Given the description of an element on the screen output the (x, y) to click on. 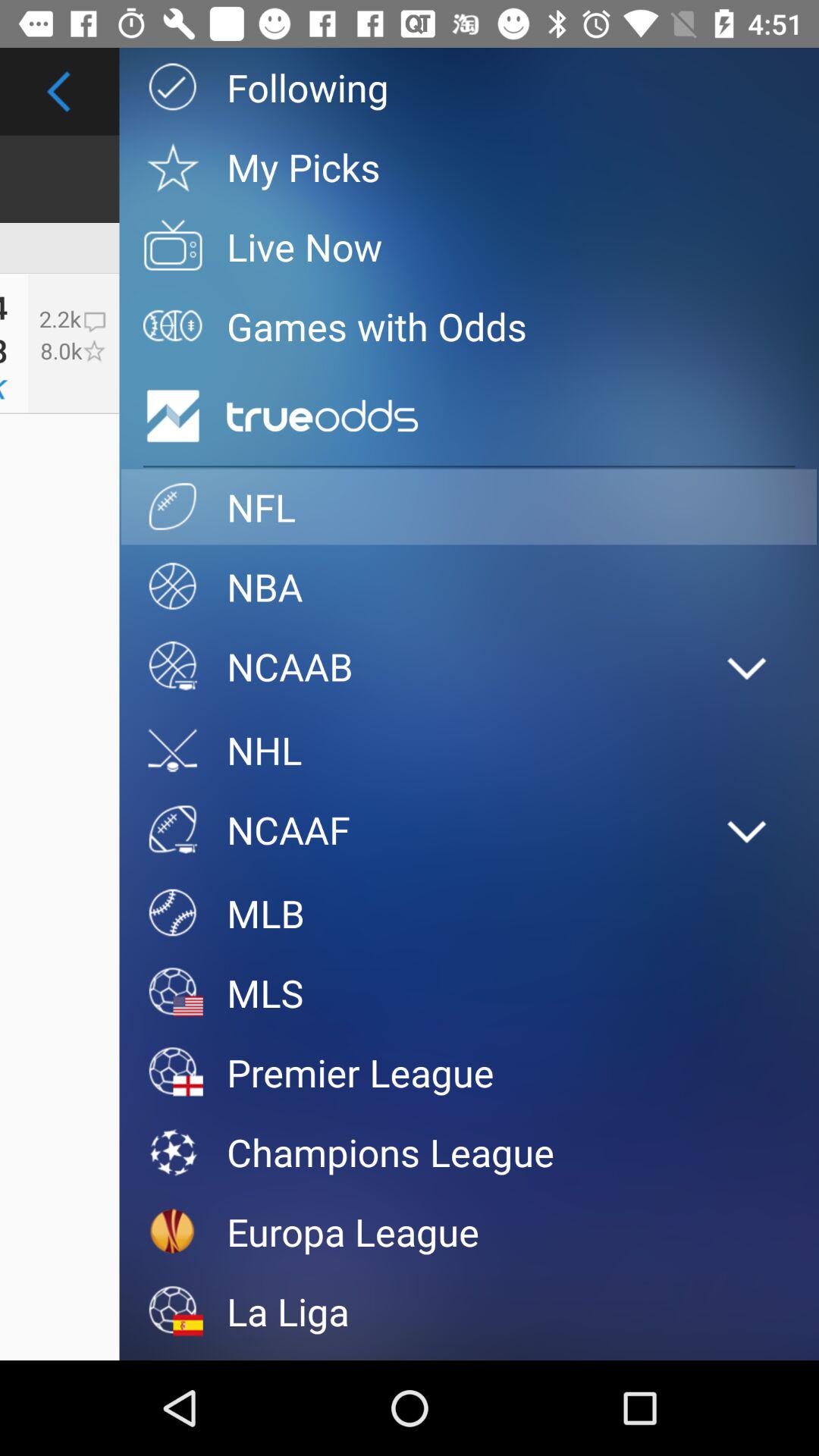
press the icon below the mls item (469, 1072)
